Given the description of an element on the screen output the (x, y) to click on. 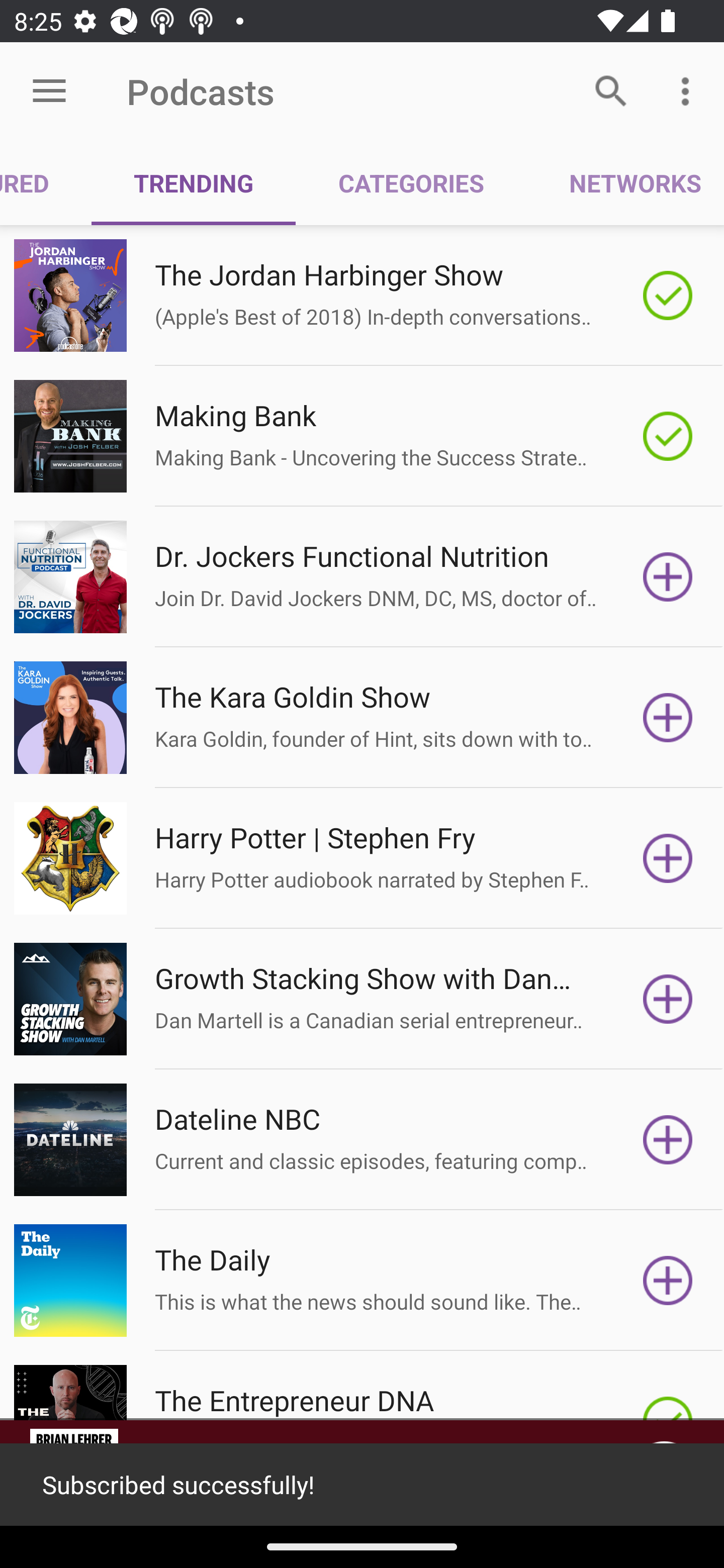
Open menu (49, 91)
Search (611, 90)
More options (688, 90)
TRENDING (193, 183)
CATEGORIES (410, 183)
NETWORKS (625, 183)
Subscribed (667, 295)
Subscribed (667, 435)
Subscribe (667, 576)
Subscribe (667, 717)
Subscribe (667, 858)
Subscribe (667, 998)
Subscribe (667, 1139)
Subscribe (667, 1280)
Subscribed successfully! (362, 1484)
